Given the description of an element on the screen output the (x, y) to click on. 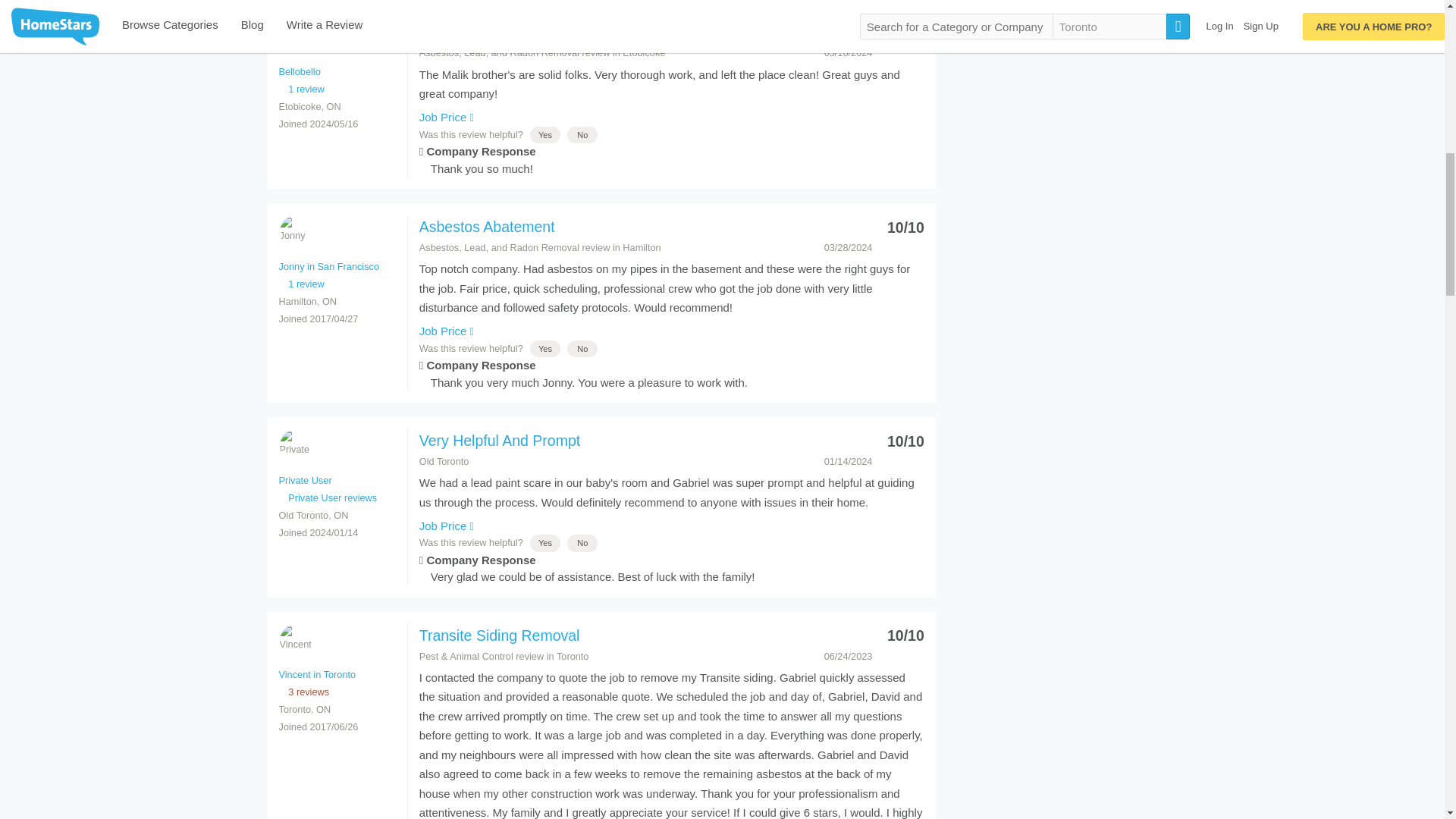
Abatement Asbestos Removal (518, 31)
1 review (301, 283)
No (582, 134)
Yes (545, 348)
No (582, 134)
Yes (545, 134)
Jonny in San Francisco (295, 231)
Vincent in Toronto (295, 640)
Yes (545, 542)
